Given the description of an element on the screen output the (x, y) to click on. 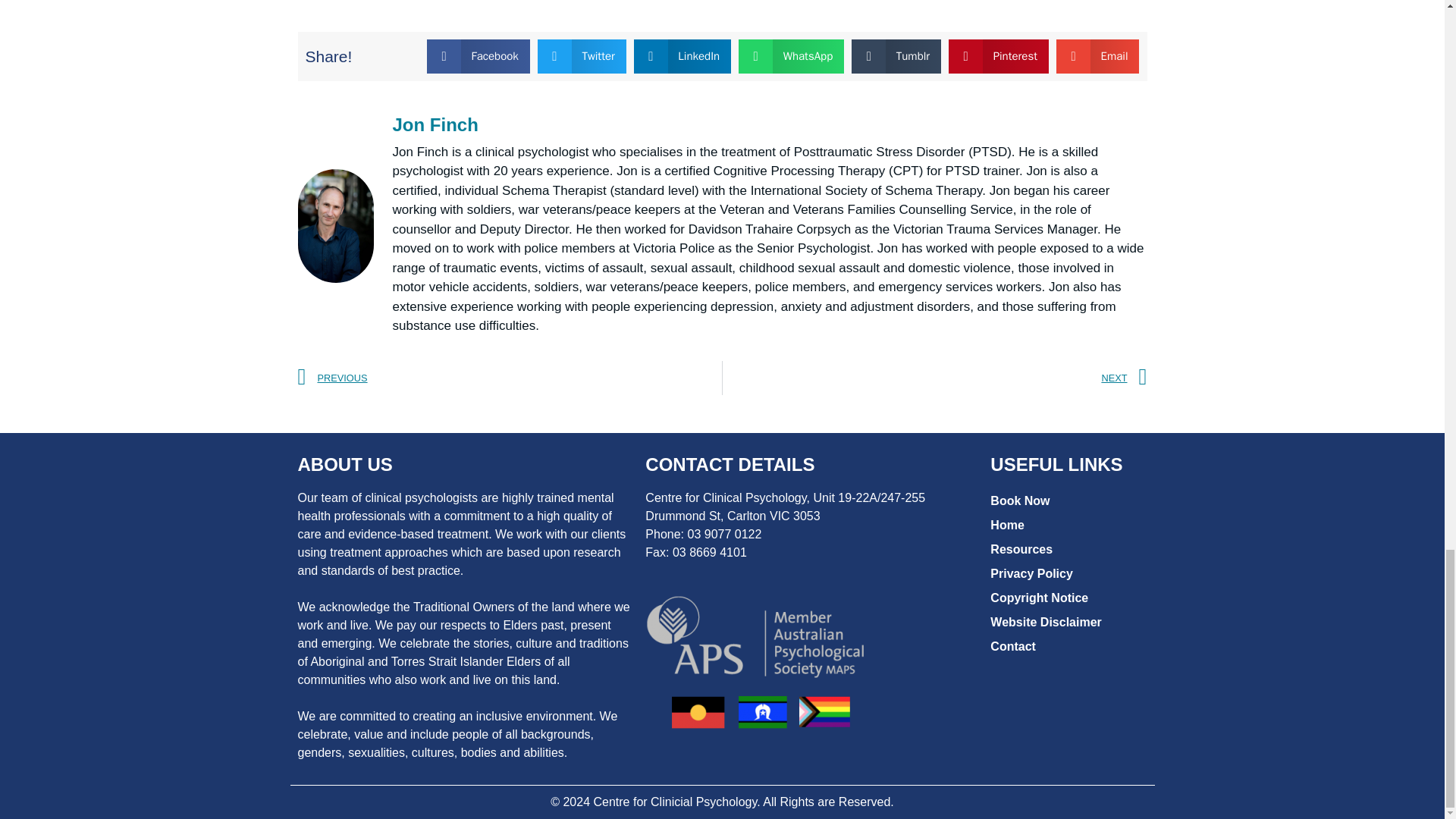
Privacy Policy (1066, 573)
Home (1066, 525)
Copyright Notice (1066, 598)
Contact (1066, 646)
Website Disclaimer (1066, 622)
Book Now (1066, 500)
Resources (1066, 549)
NEXT (934, 377)
PREVIOUS (509, 377)
